Given the description of an element on the screen output the (x, y) to click on. 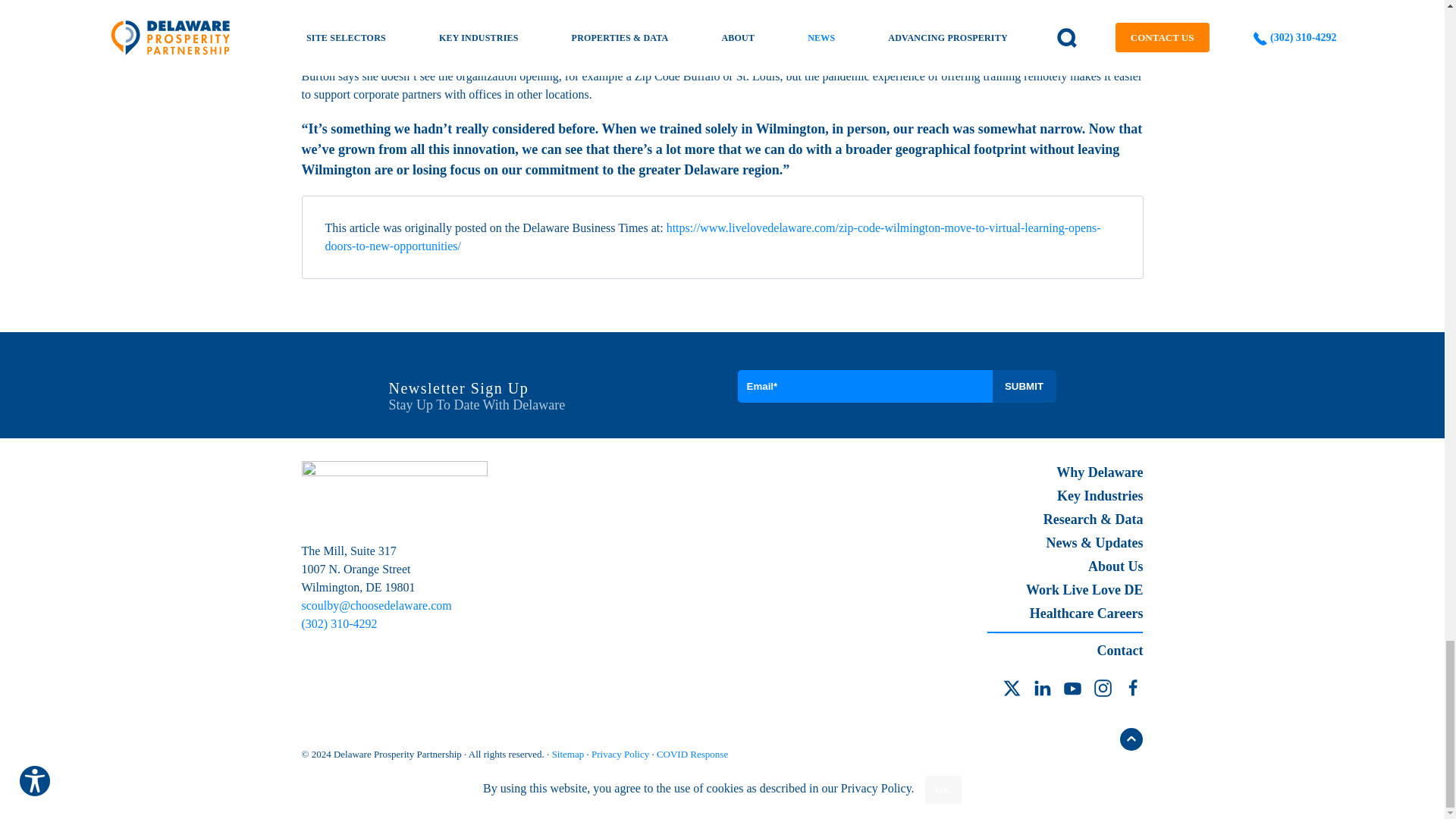
Submit (1023, 386)
